Given the description of an element on the screen output the (x, y) to click on. 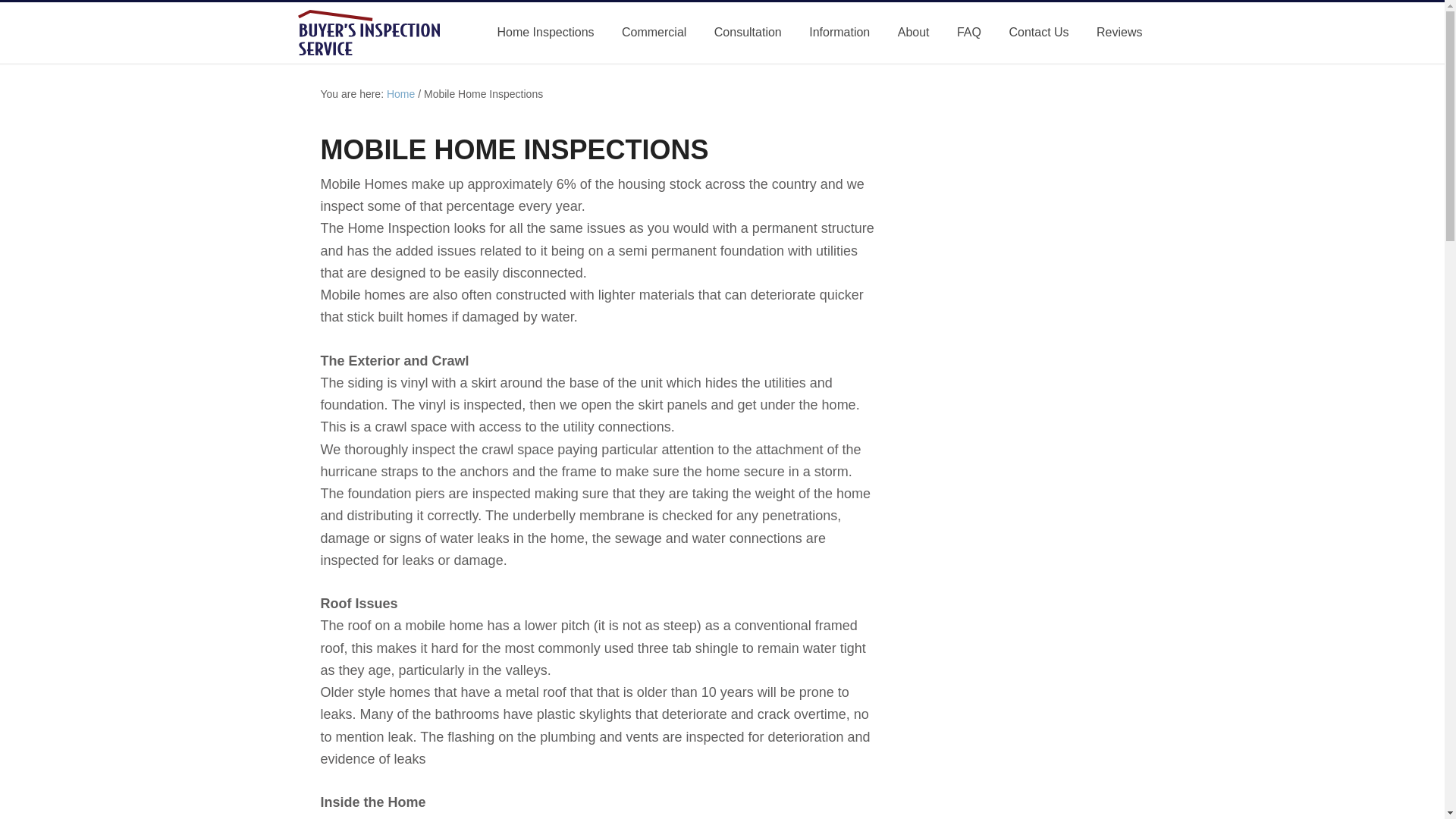
BUYER'S INSPECTION SERVICE (380, 32)
Consultation (747, 32)
Commercial (654, 32)
Home Inspections (544, 32)
Information (839, 32)
About (913, 32)
Contact Us (1037, 32)
